Given the description of an element on the screen output the (x, y) to click on. 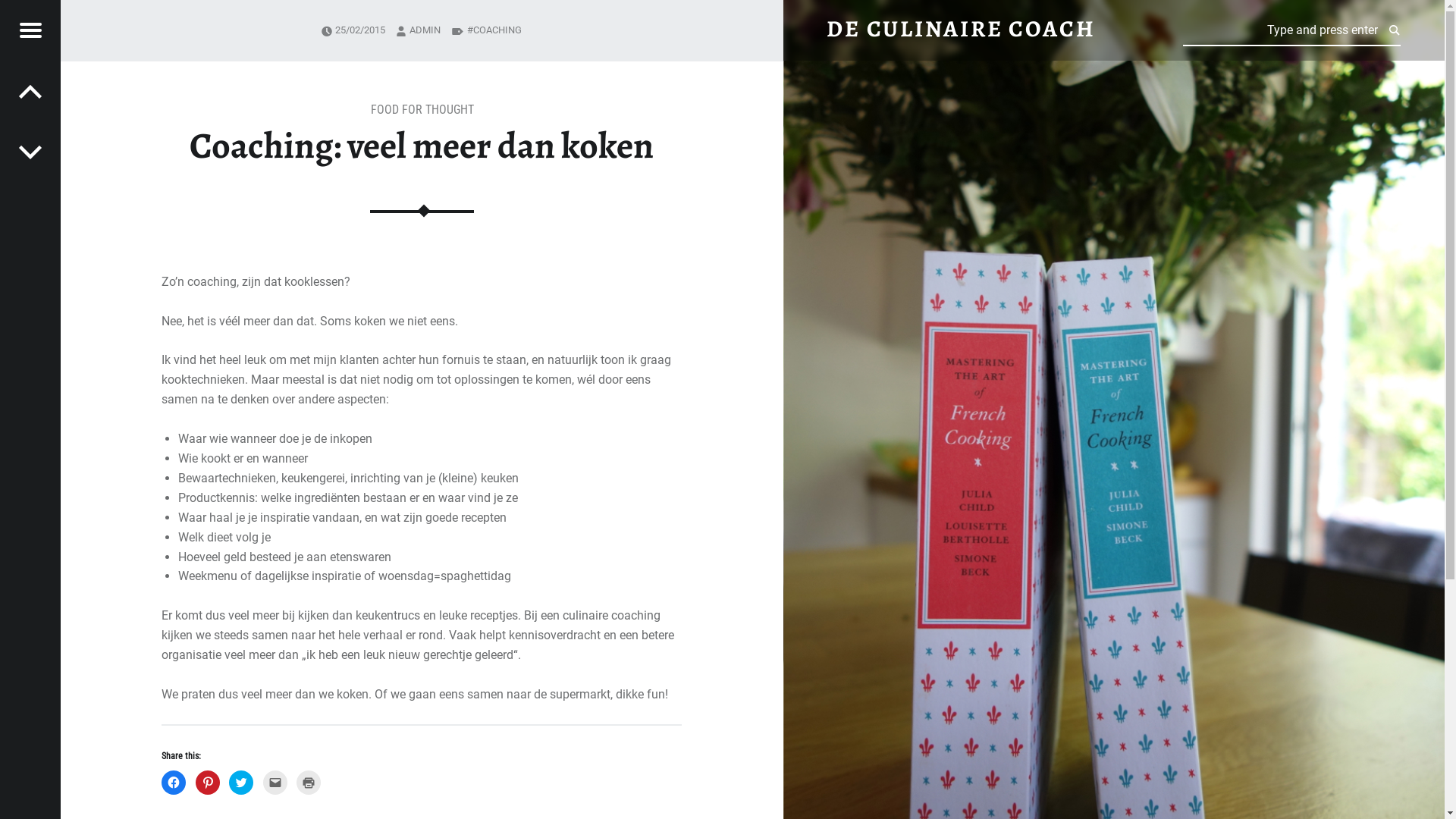
Coaching: veel meer dan koken Element type: hover (1113, 9)
FOOD FOR THOUGHT Element type: text (421, 109)
ADMIN Element type: text (424, 29)
Click to share on Twitter (Opens in new window) Element type: text (241, 782)
Menu Element type: text (30, 30)
Click to print (Opens in new window) Element type: text (308, 782)
Click to email a link to a friend (Opens in new window) Element type: text (275, 782)
Click to share on Facebook (Opens in new window) Element type: text (173, 782)
DE CULINAIRE COACH Element type: text (960, 28)
Click to share on Pinterest (Opens in new window) Element type: text (207, 782)
COACHING Element type: text (494, 29)
